Given the description of an element on the screen output the (x, y) to click on. 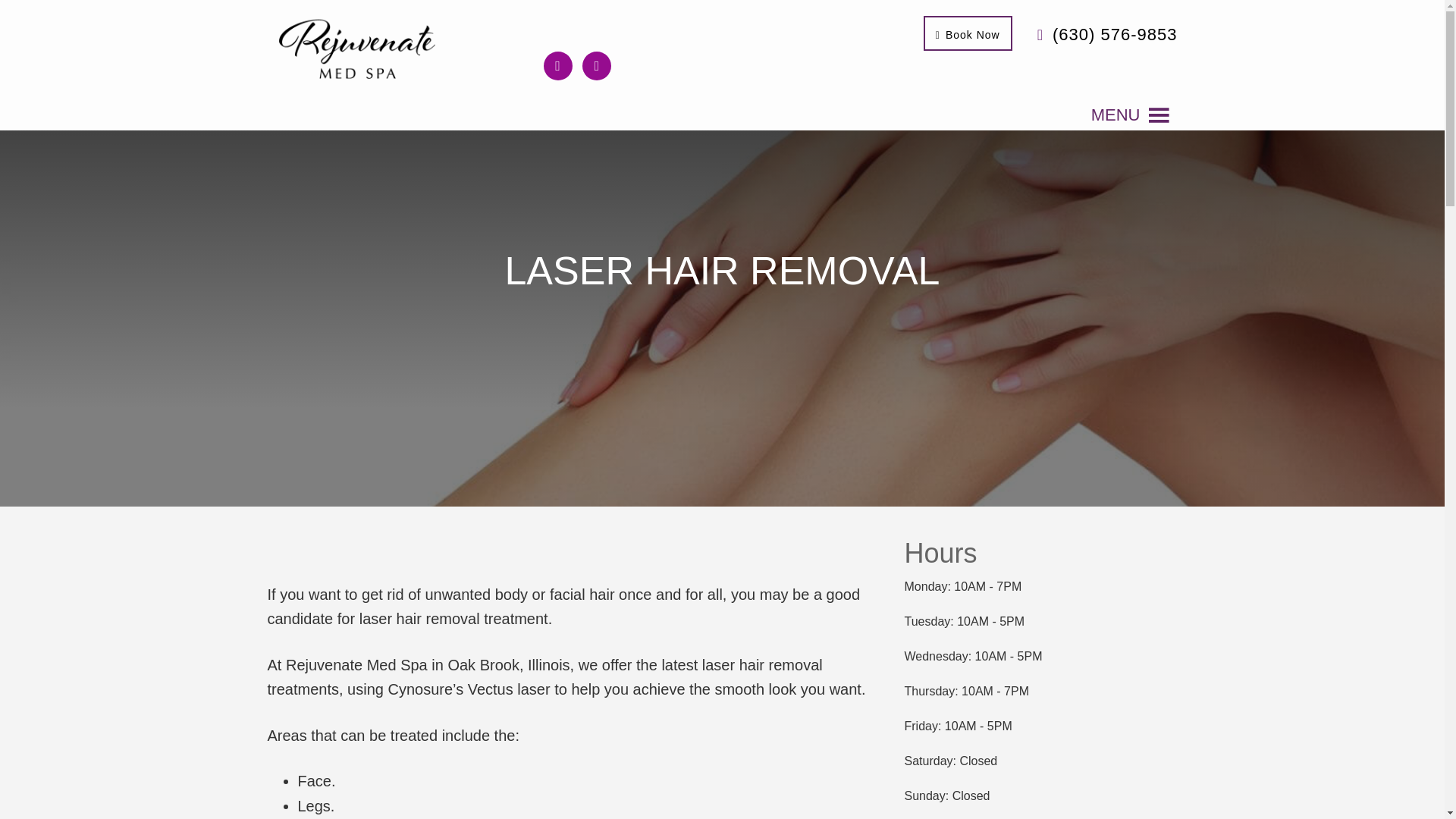
facebook (557, 64)
Facebook (557, 64)
Instagram (596, 64)
Book Now (967, 32)
instagram (596, 64)
